Given the description of an element on the screen output the (x, y) to click on. 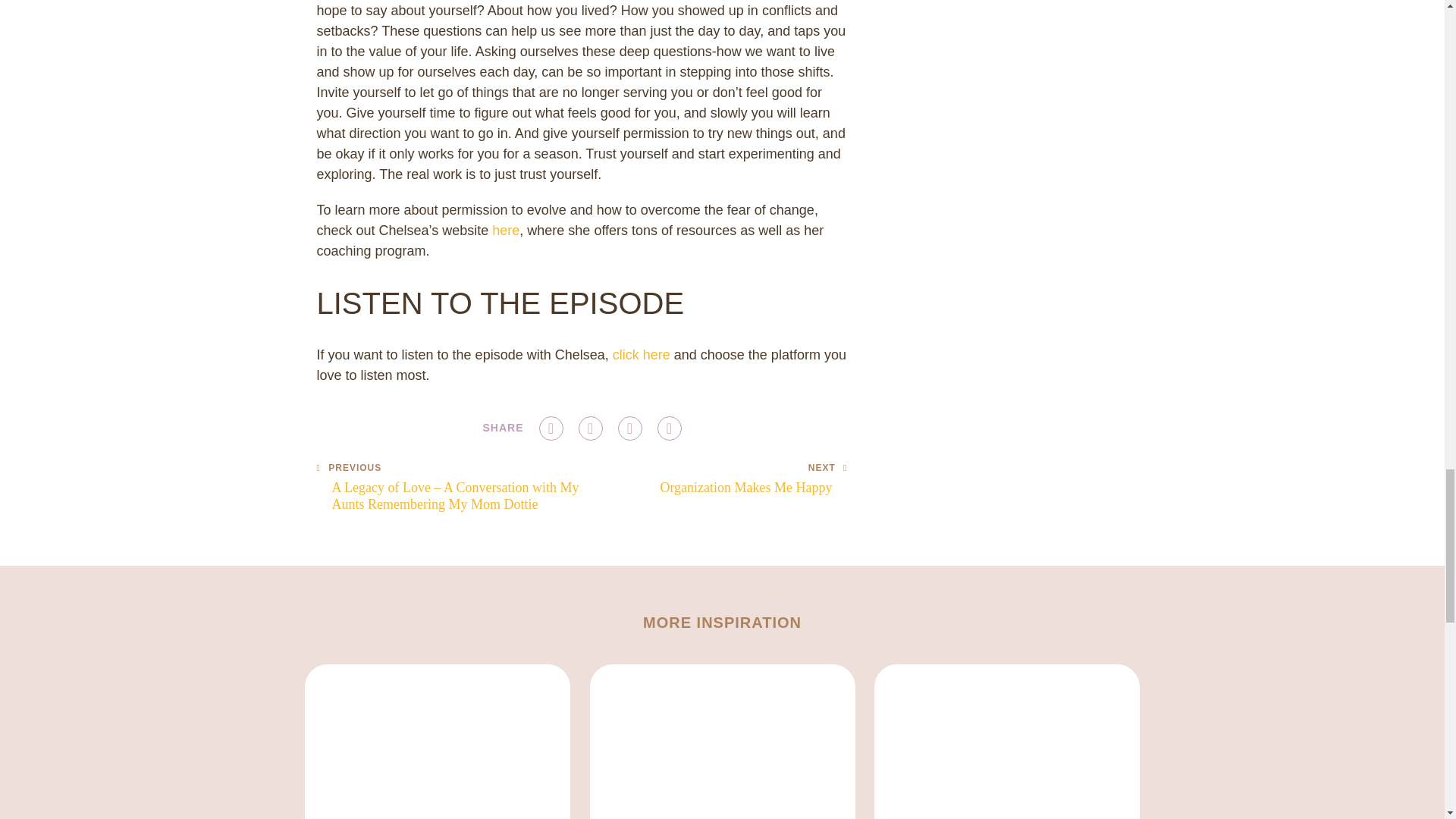
Share on Pinterest (753, 479)
Share on Facebook (629, 428)
here (550, 428)
Share via E-mail (505, 230)
Share on Twitter (668, 428)
click here (590, 428)
